Given the description of an element on the screen output the (x, y) to click on. 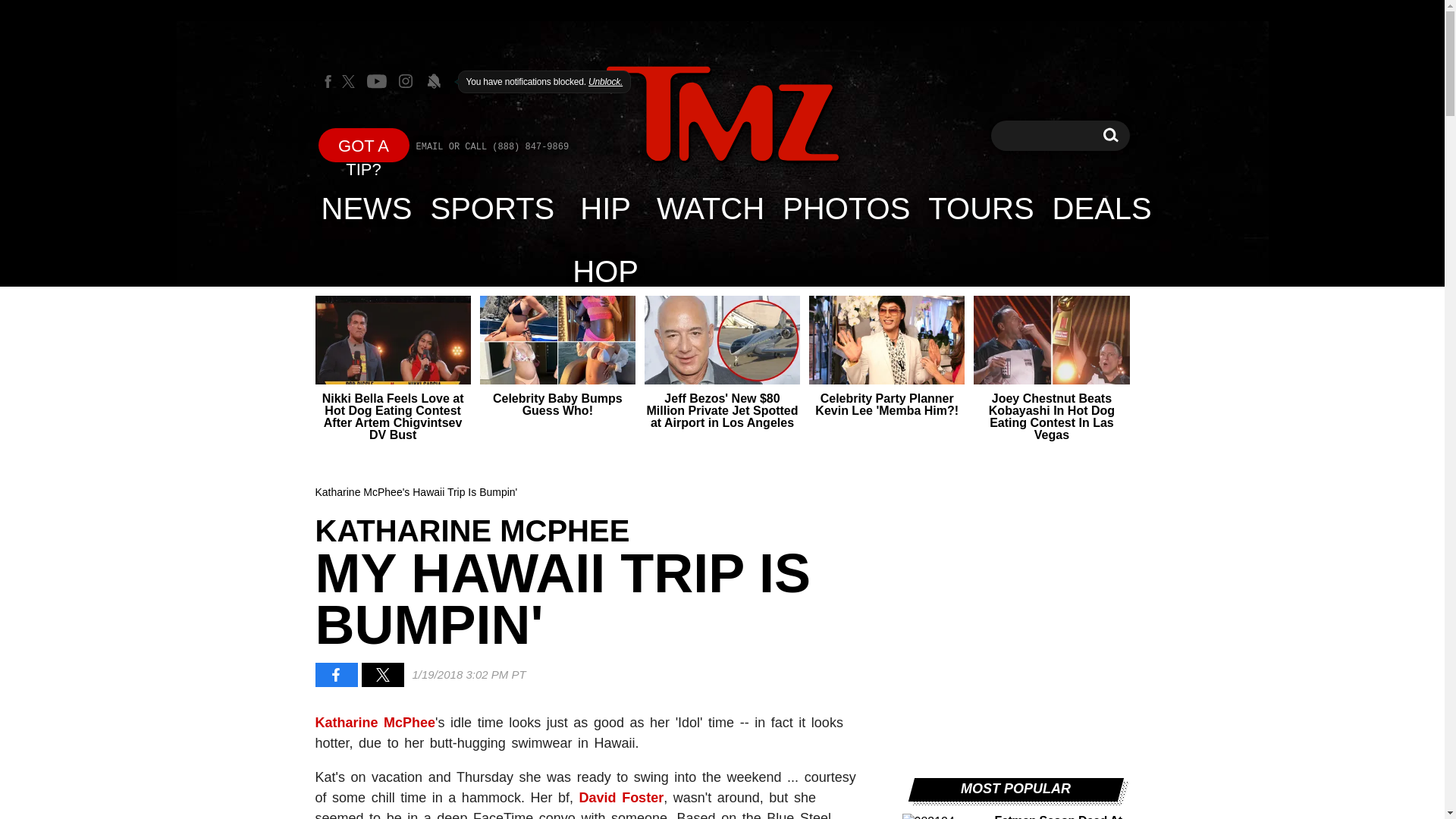
WATCH (710, 207)
PHOTOS (845, 207)
Search (1110, 135)
SPORTS (1110, 134)
TMZ (493, 207)
Skip to main content (722, 115)
TMZ (367, 207)
DEALS (722, 113)
